Given the description of an element on the screen output the (x, y) to click on. 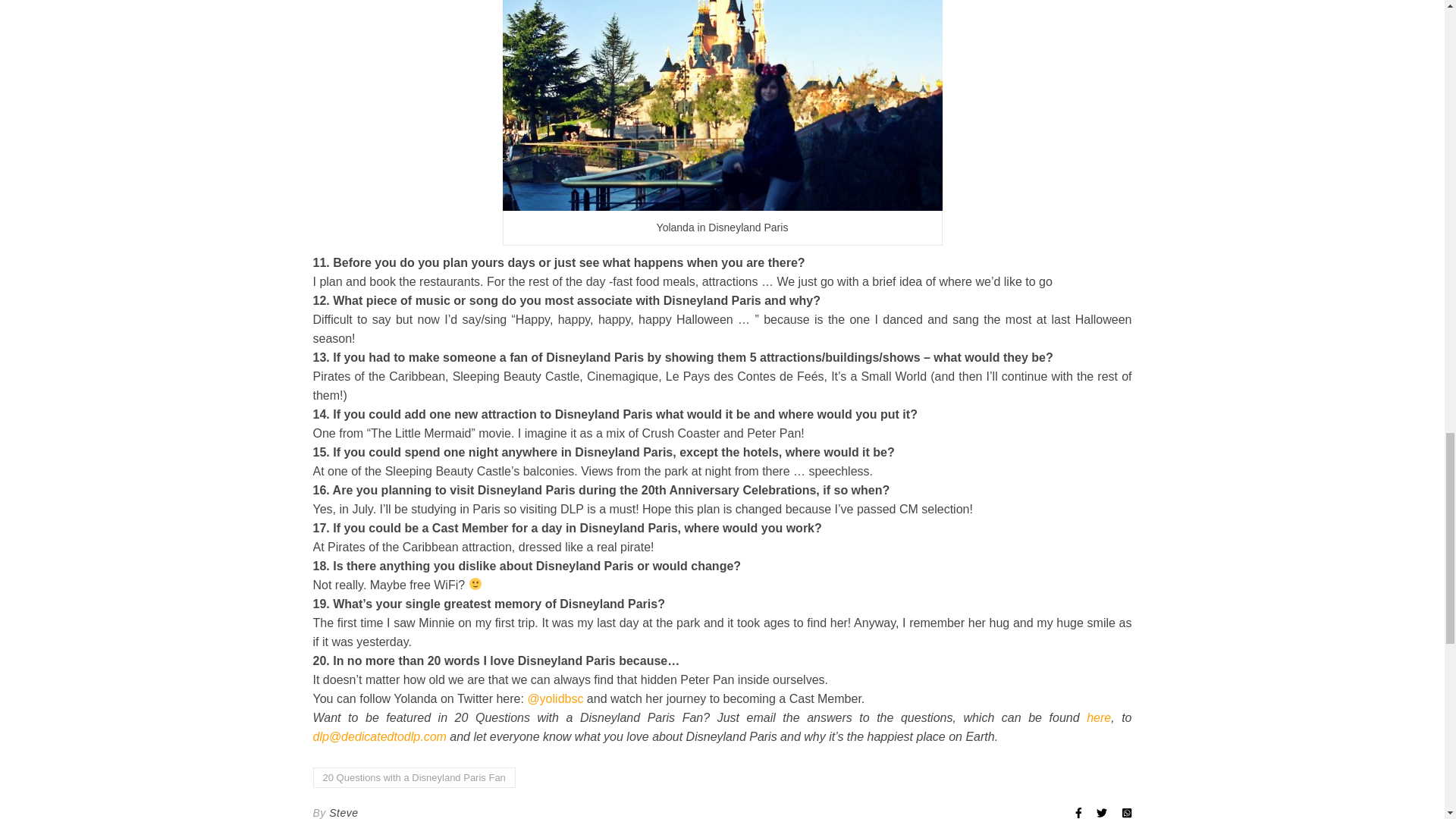
Posts by Steve (343, 810)
Yolanda in Disneyland Paris (722, 105)
here (1098, 717)
